Given the description of an element on the screen output the (x, y) to click on. 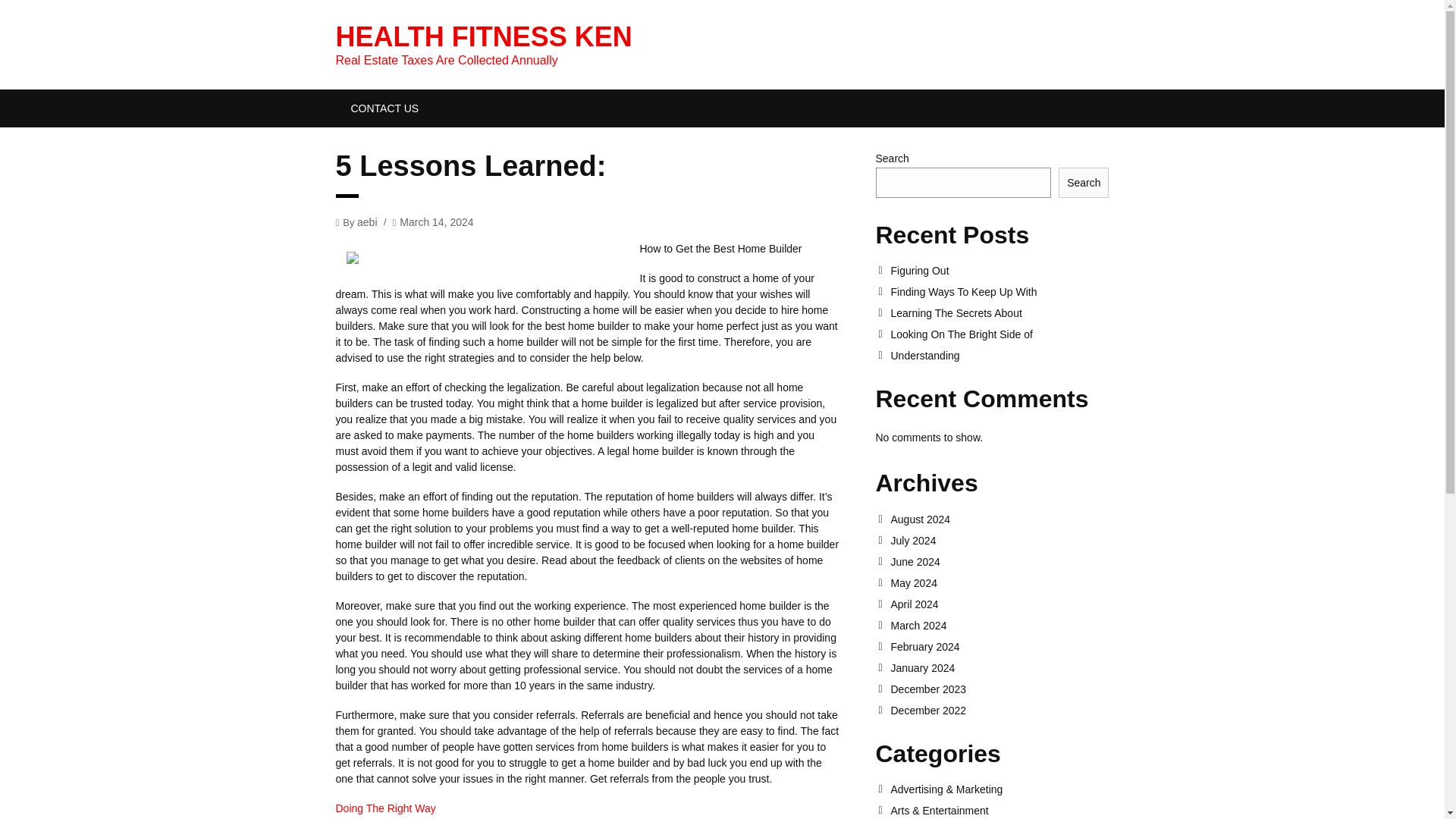
aebi (366, 221)
March 2024 (998, 625)
Learning The Secrets About (998, 313)
Understanding (998, 355)
Doing The Right Way (384, 808)
Looking On The Bright Side of (998, 334)
March 14, 2024 (435, 221)
August 2024 (998, 519)
May 2024 (998, 582)
Figuring Out (998, 270)
